Given the description of an element on the screen output the (x, y) to click on. 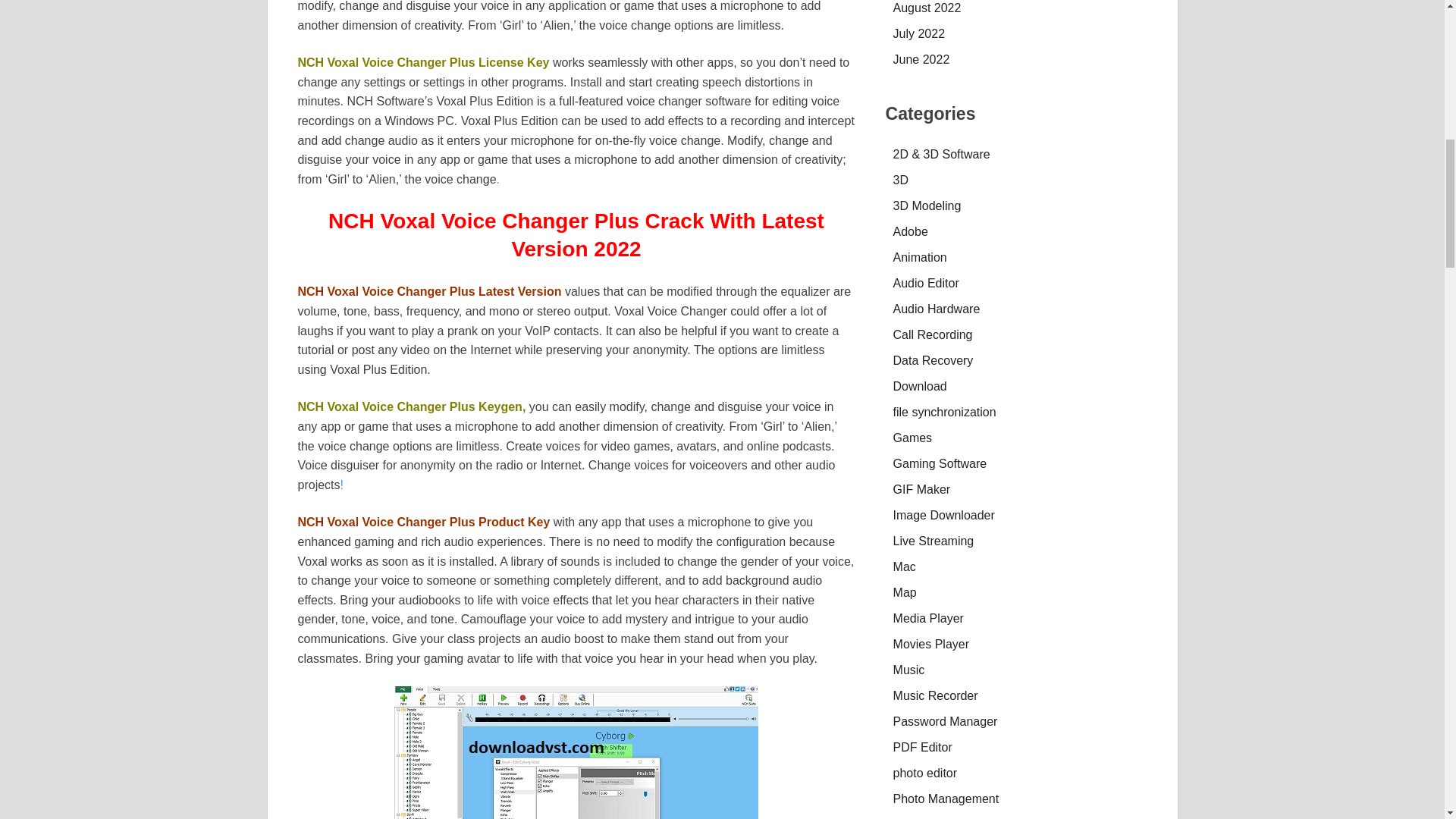
! (341, 484)
. (497, 178)
